Given the description of an element on the screen output the (x, y) to click on. 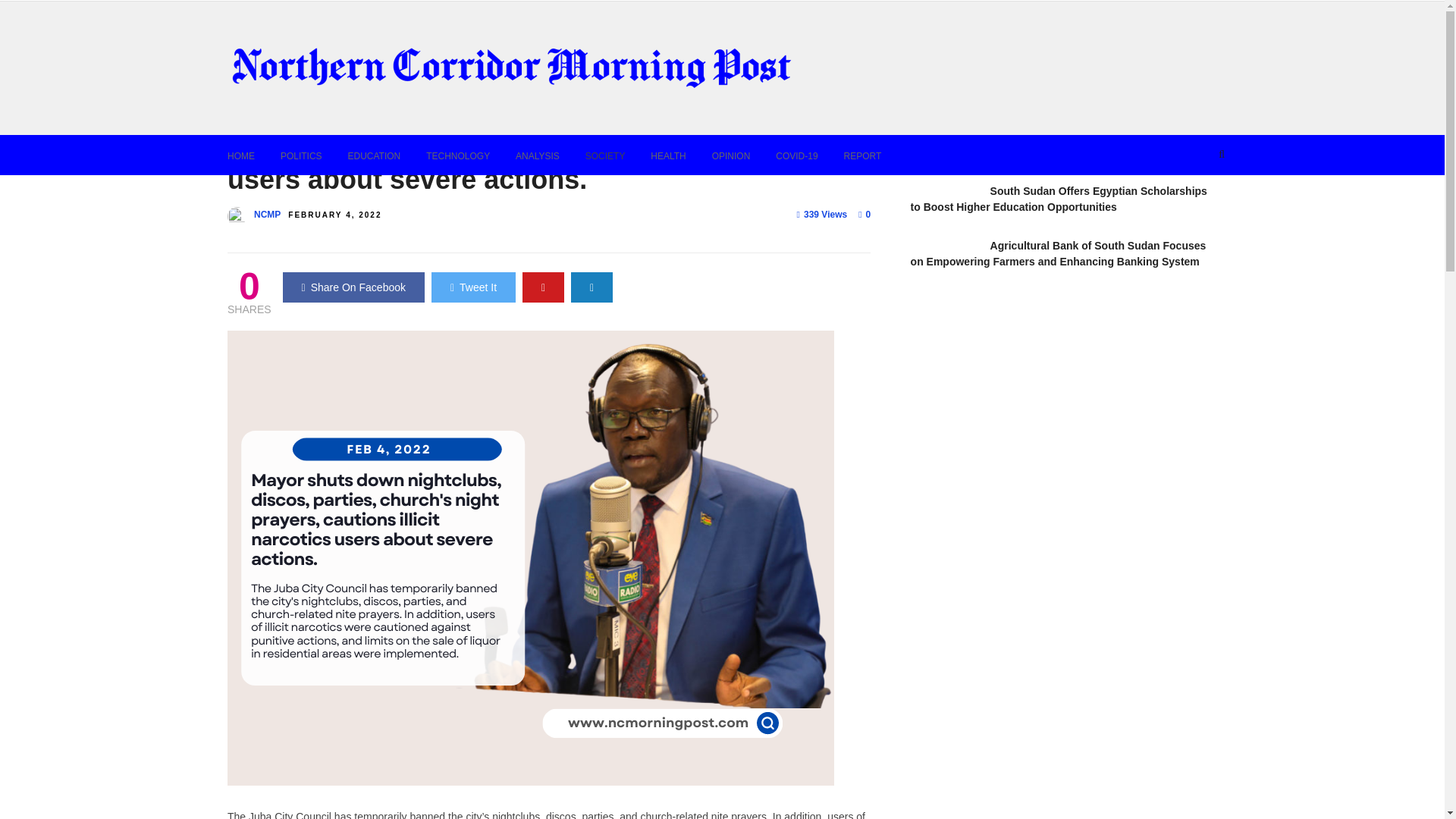
Share On Twitter (472, 286)
Share by Email (591, 286)
Share On Facebook (353, 286)
Share On Pinterest (543, 286)
